Given the description of an element on the screen output the (x, y) to click on. 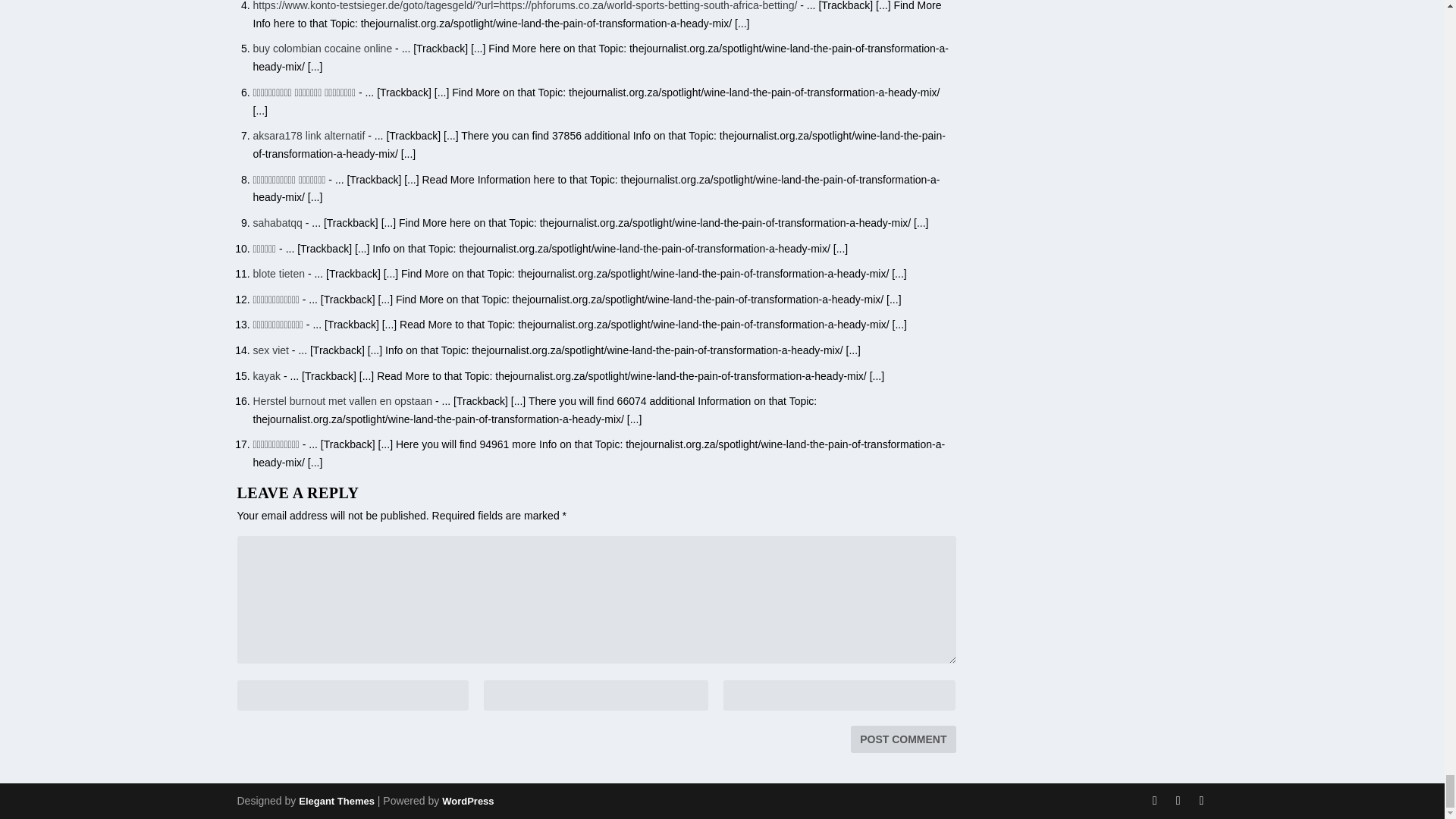
Post Comment (902, 738)
